Given the description of an element on the screen output the (x, y) to click on. 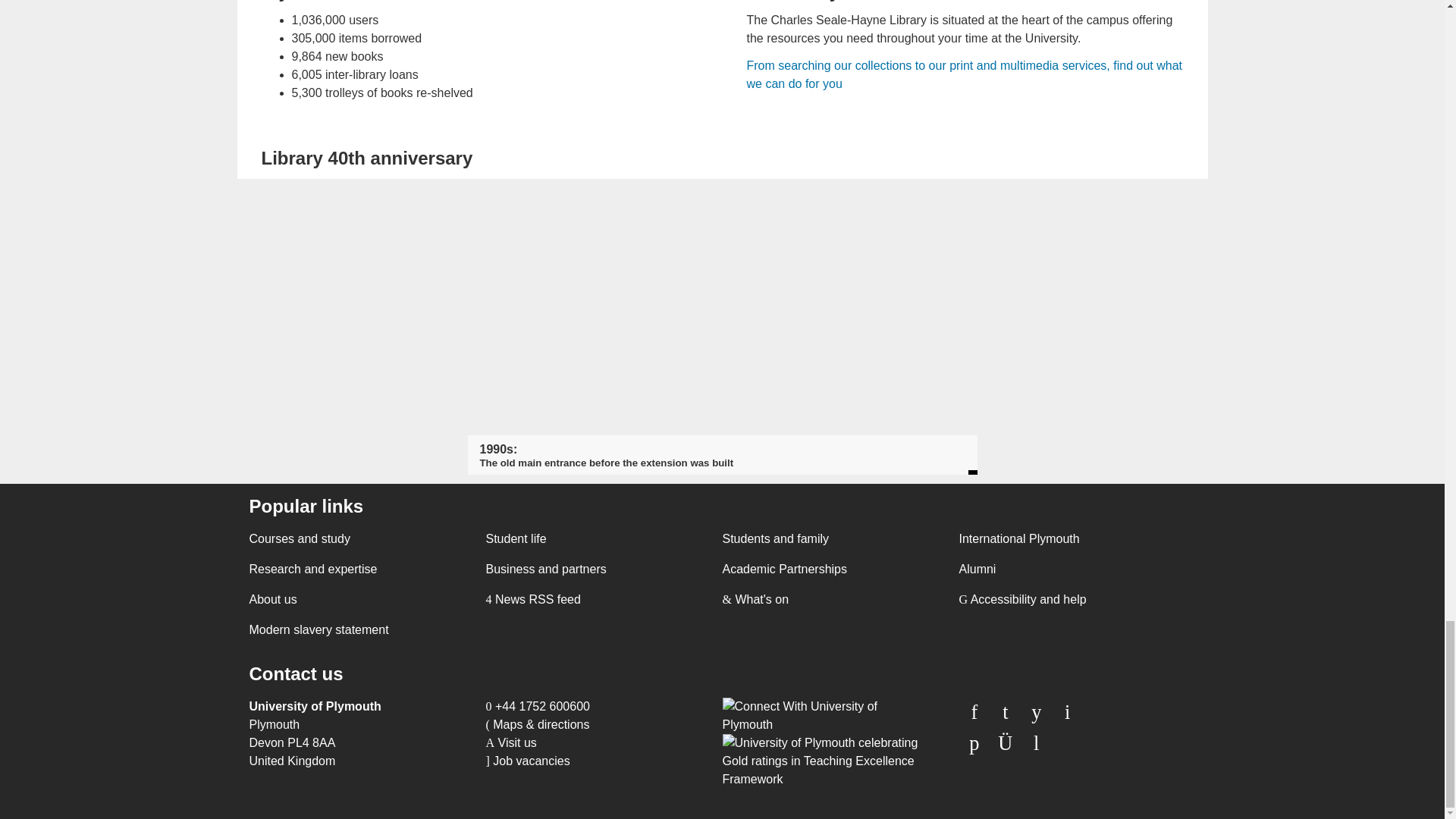
Entrance to the library in the 1990s (721, 197)
